Given the description of an element on the screen output the (x, y) to click on. 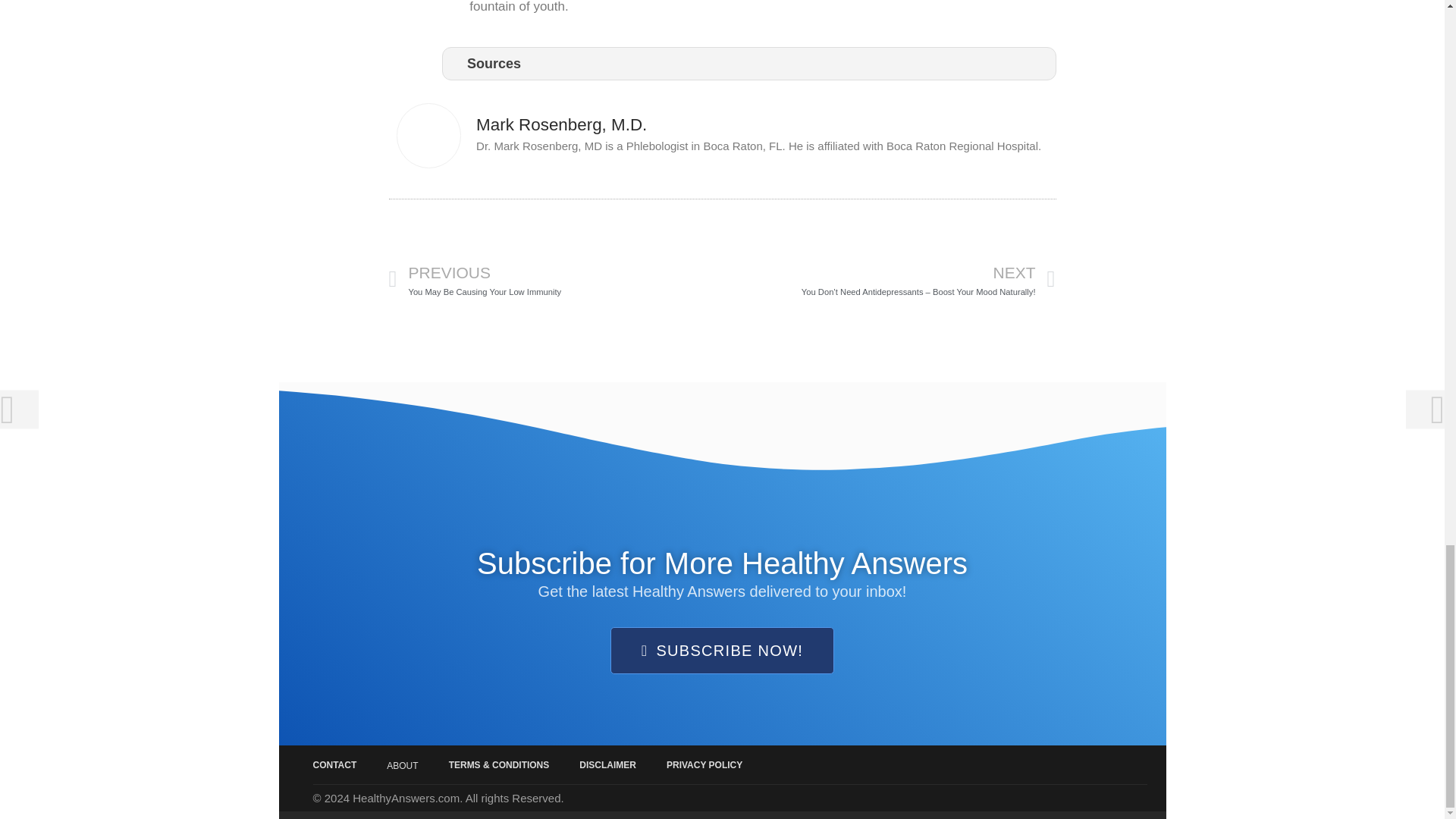
DISCLAIMER (607, 764)
CONTACT (334, 764)
ABOUT (555, 279)
SUBSCRIBE NOW! (402, 765)
PRIVACY POLICY (722, 650)
